Given the description of an element on the screen output the (x, y) to click on. 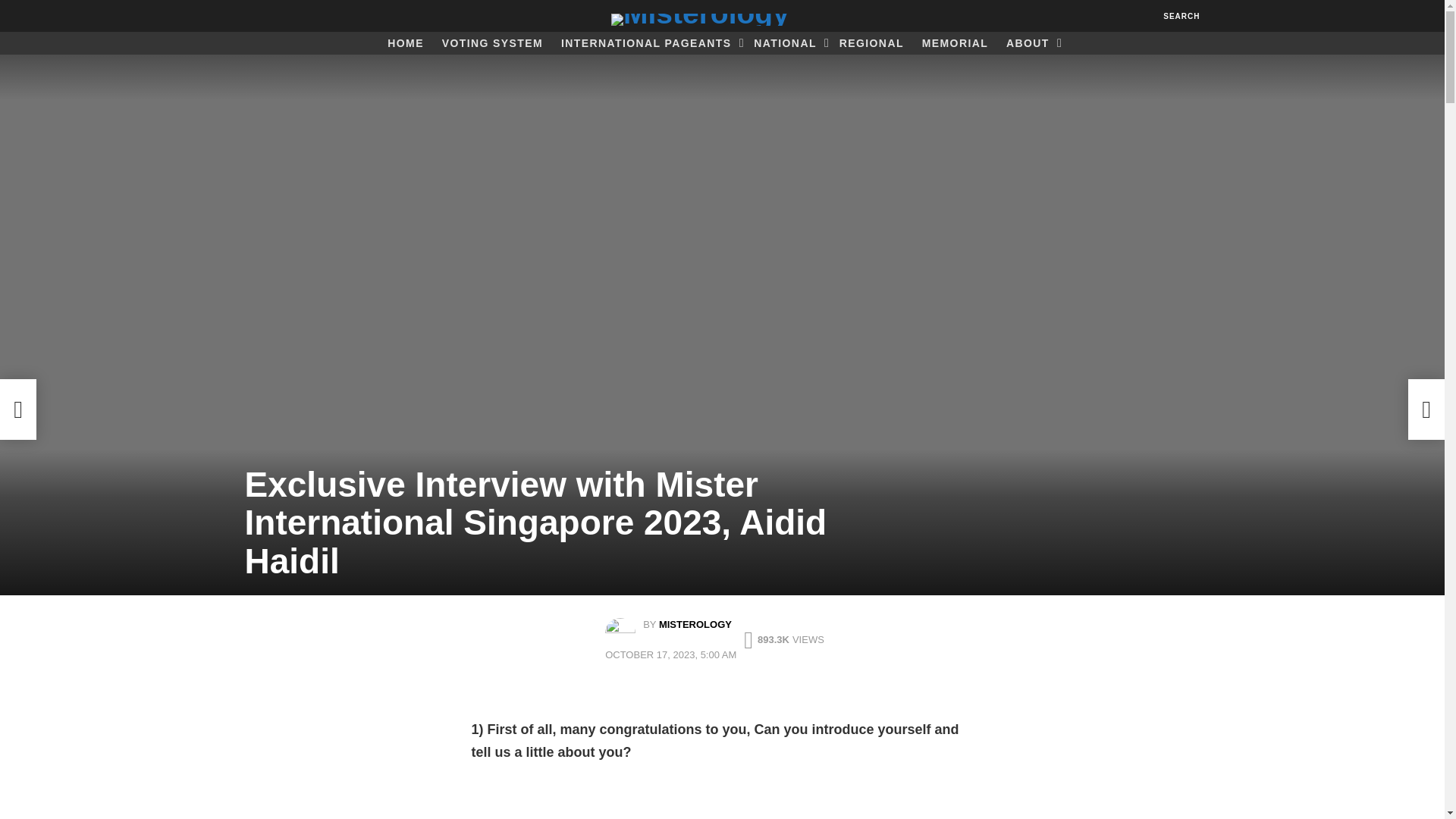
HOME (405, 42)
ABOUT (1029, 42)
VOTING SYSTEM (491, 42)
SEARCH (1181, 15)
INTERNATIONAL PAGEANTS (647, 42)
REGIONAL (871, 42)
MISTEROLOGY (695, 624)
MEMORIAL (954, 42)
NATIONAL (786, 42)
Posts by misterology (695, 624)
